Given the description of an element on the screen output the (x, y) to click on. 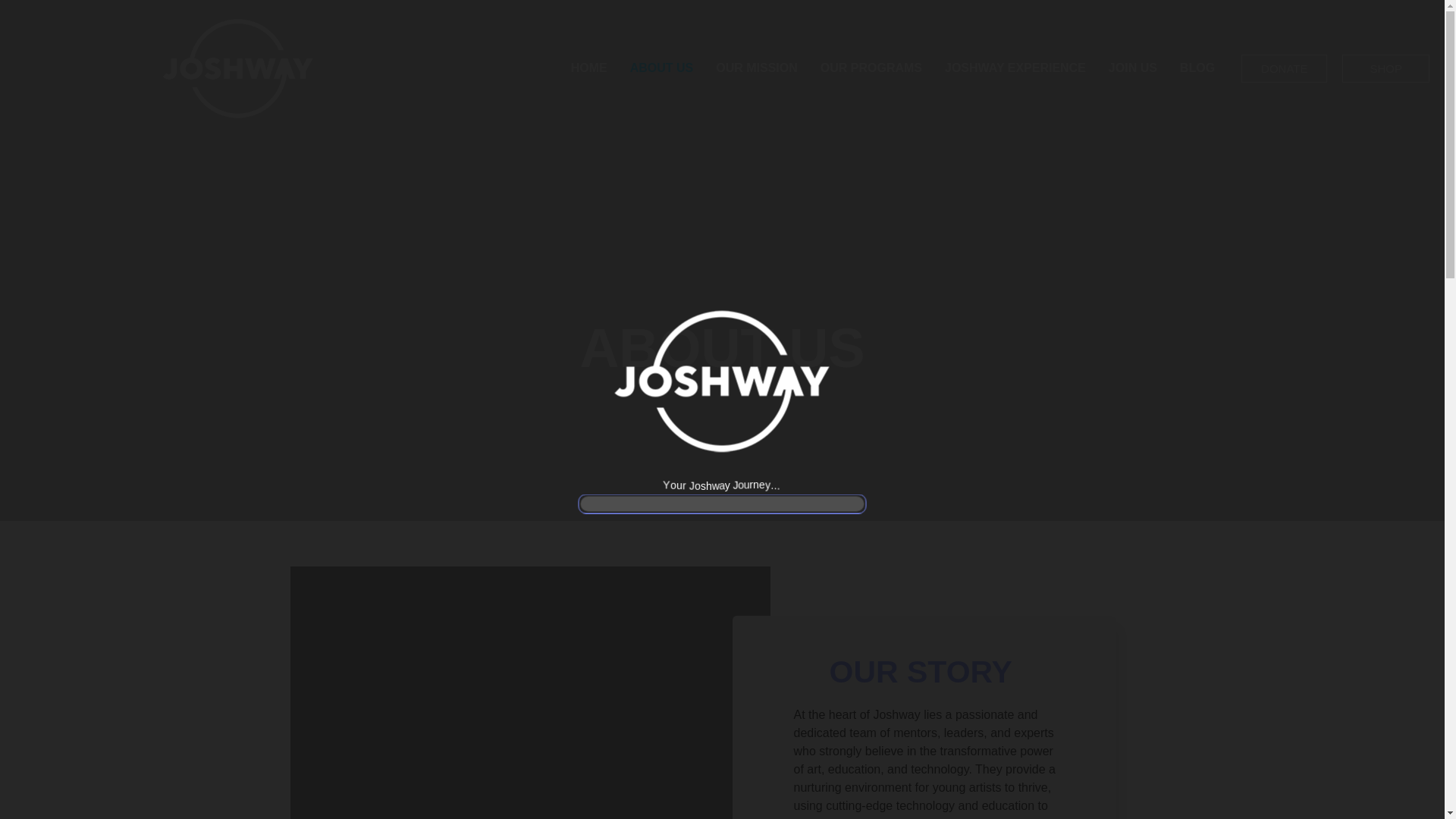
OUR PROGRAMS (871, 67)
JOIN US (1133, 67)
SHOP (1385, 68)
BLOG (1197, 67)
OUR MISSION (756, 67)
ABOUT US (661, 67)
HOME (588, 67)
JOSHWAY EXPERIENCE (1015, 67)
DONATE (1283, 68)
